Given the description of an element on the screen output the (x, y) to click on. 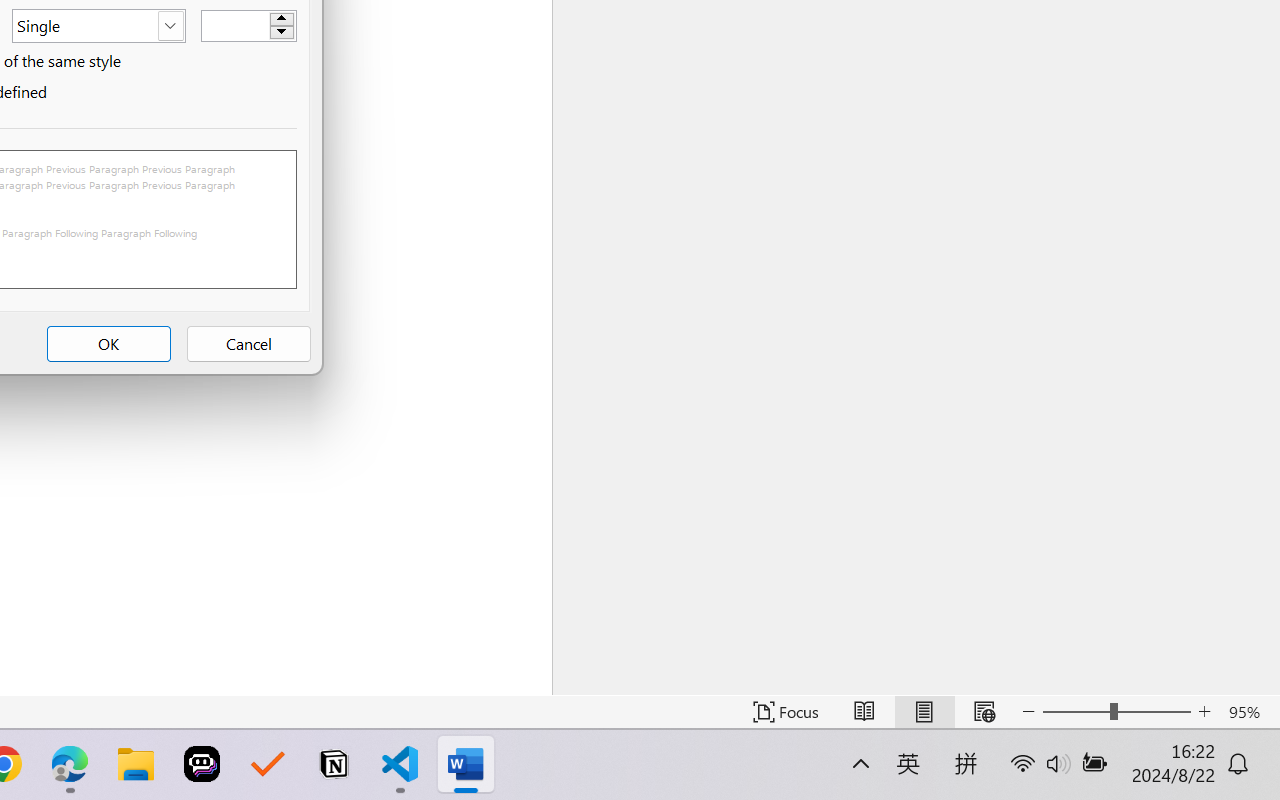
RichEdit Control (235, 25)
Line spacing: (98, 25)
Notion (333, 764)
